Given the description of an element on the screen output the (x, y) to click on. 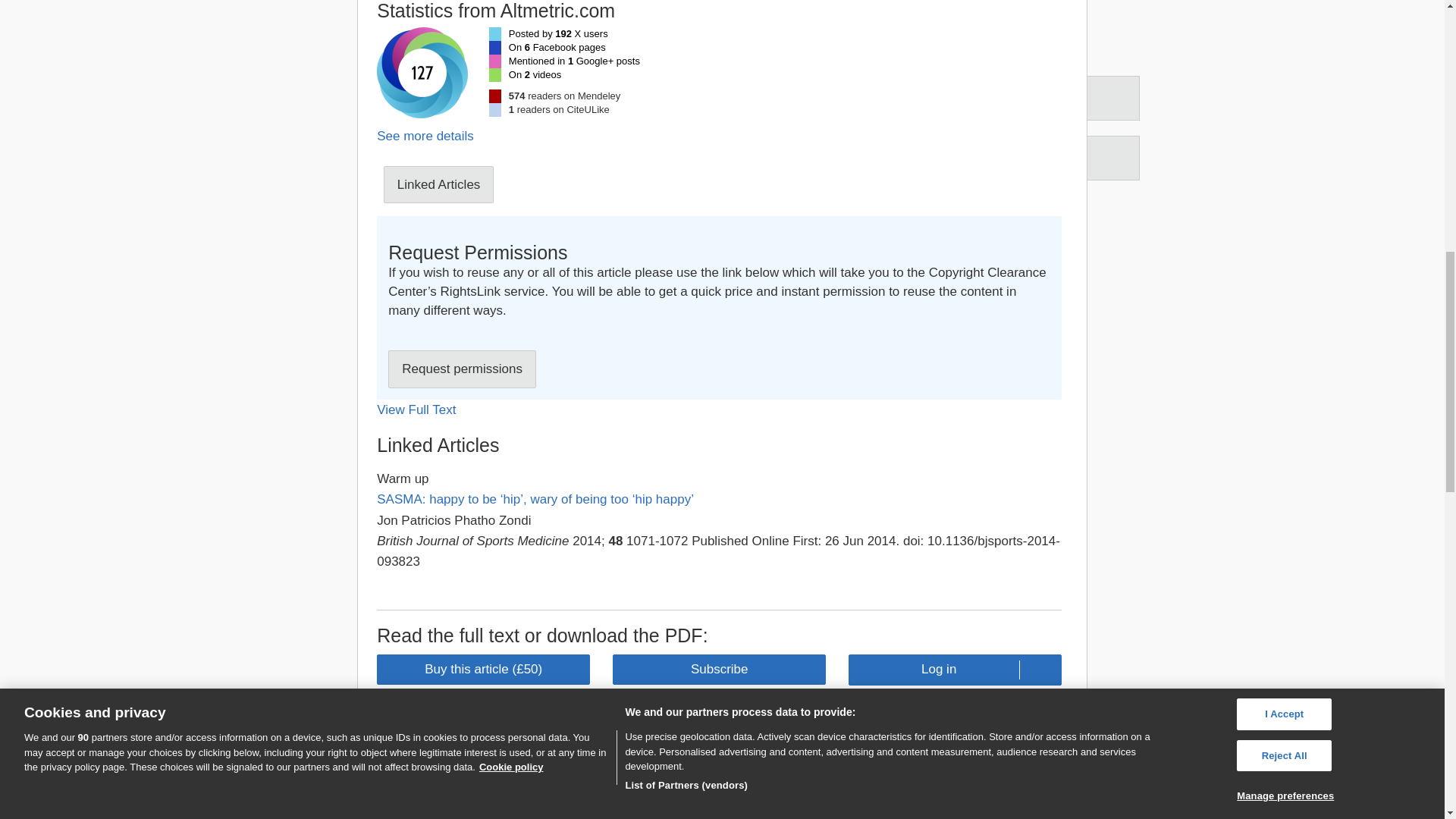
careers widget (397, 809)
